Given the description of an element on the screen output the (x, y) to click on. 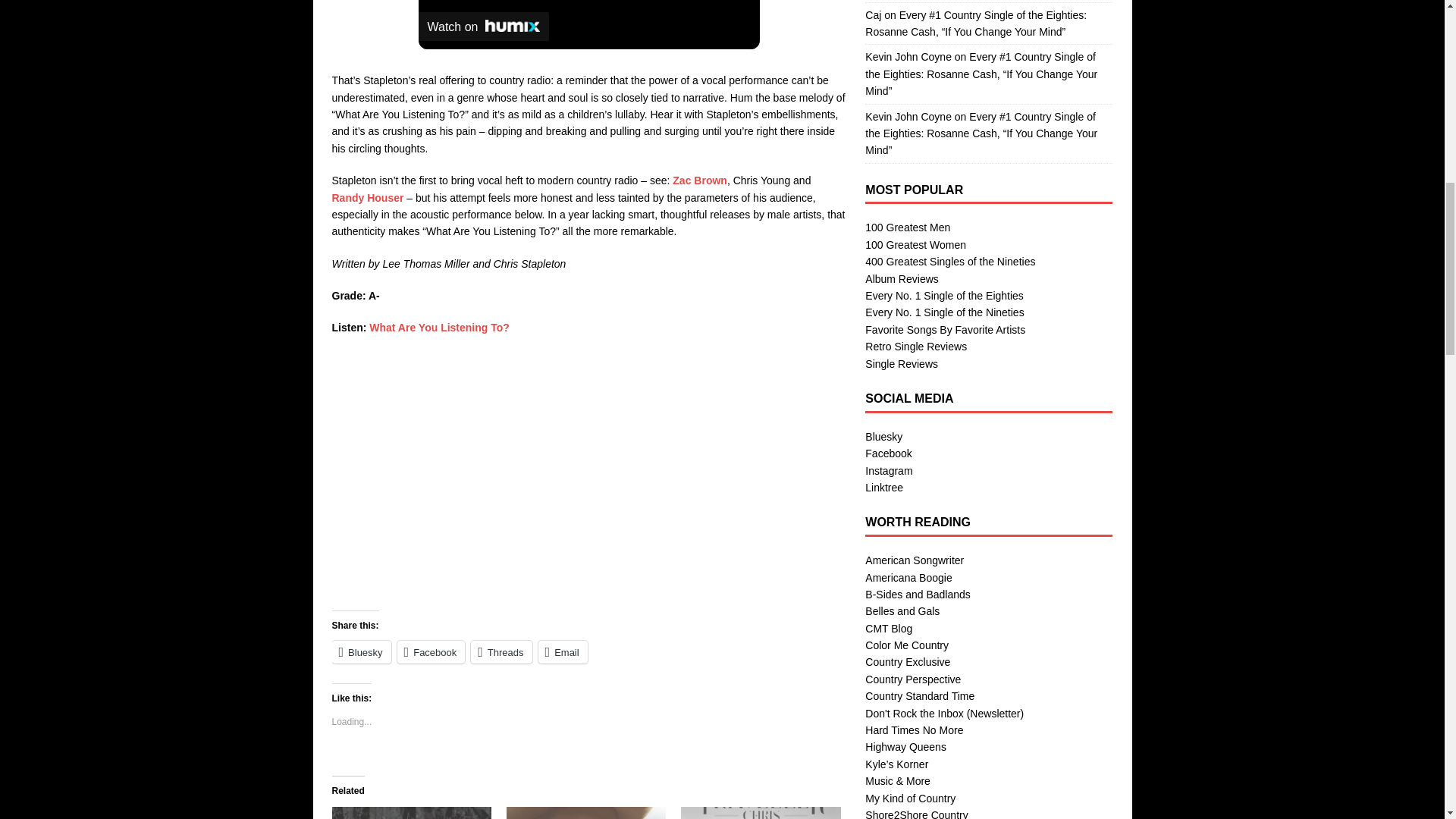
Click to share on Threads (500, 651)
The Steeldrivers, The Steeldrivers (411, 812)
Click to share on Bluesky (361, 651)
Click to share on Facebook (431, 651)
Click to email a link to a friend (563, 651)
